Given the description of an element on the screen output the (x, y) to click on. 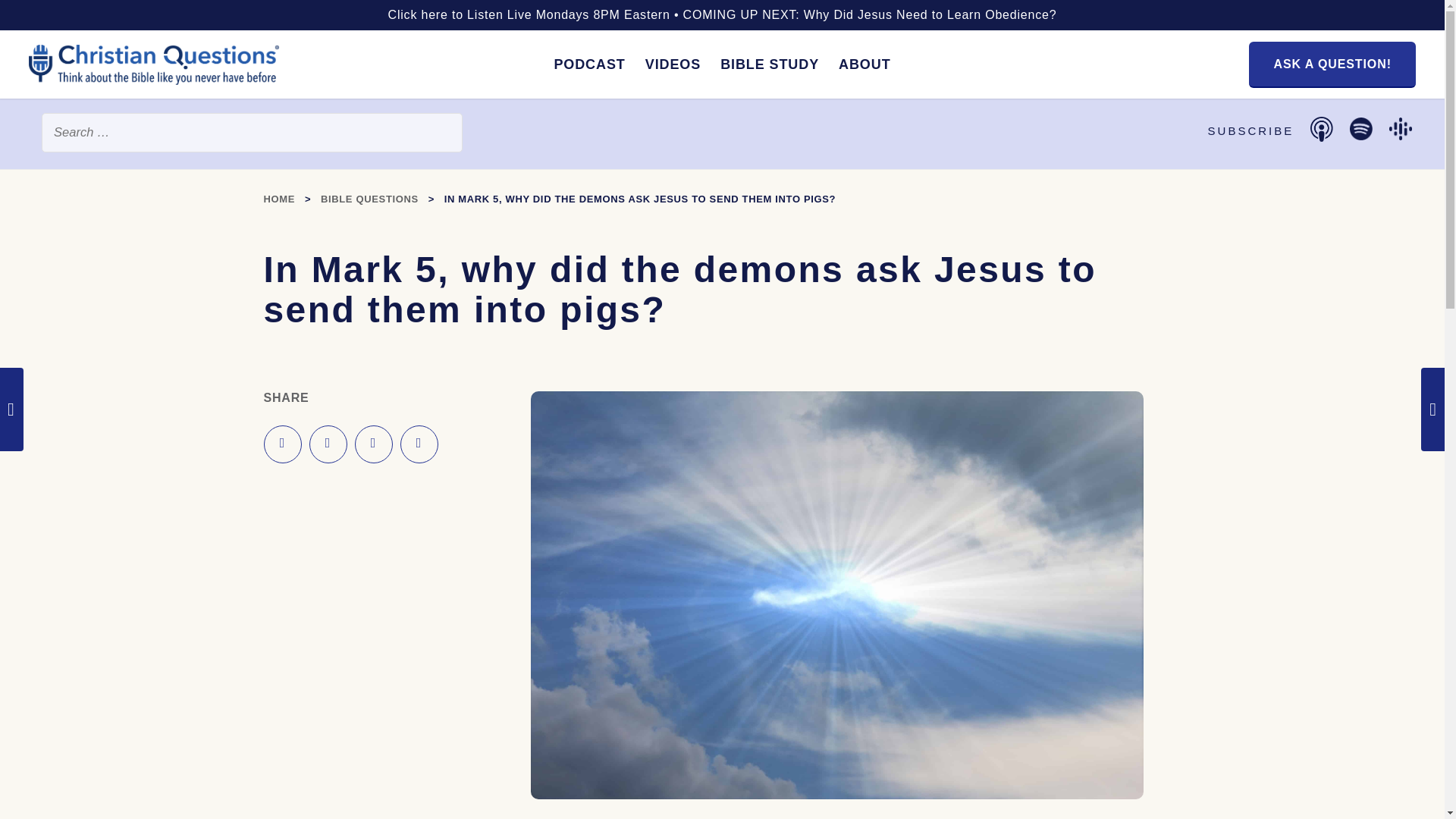
ChristianQuestions-Logo (154, 65)
ChristianQuestions-Logo (154, 79)
BIBLE STUDY (769, 64)
ASK A QUESTION! (1332, 64)
HOME (279, 198)
PODCAST (588, 64)
ABOUT (864, 64)
BIBLE QUESTIONS (369, 198)
VIDEOS (672, 64)
